Given the description of an element on the screen output the (x, y) to click on. 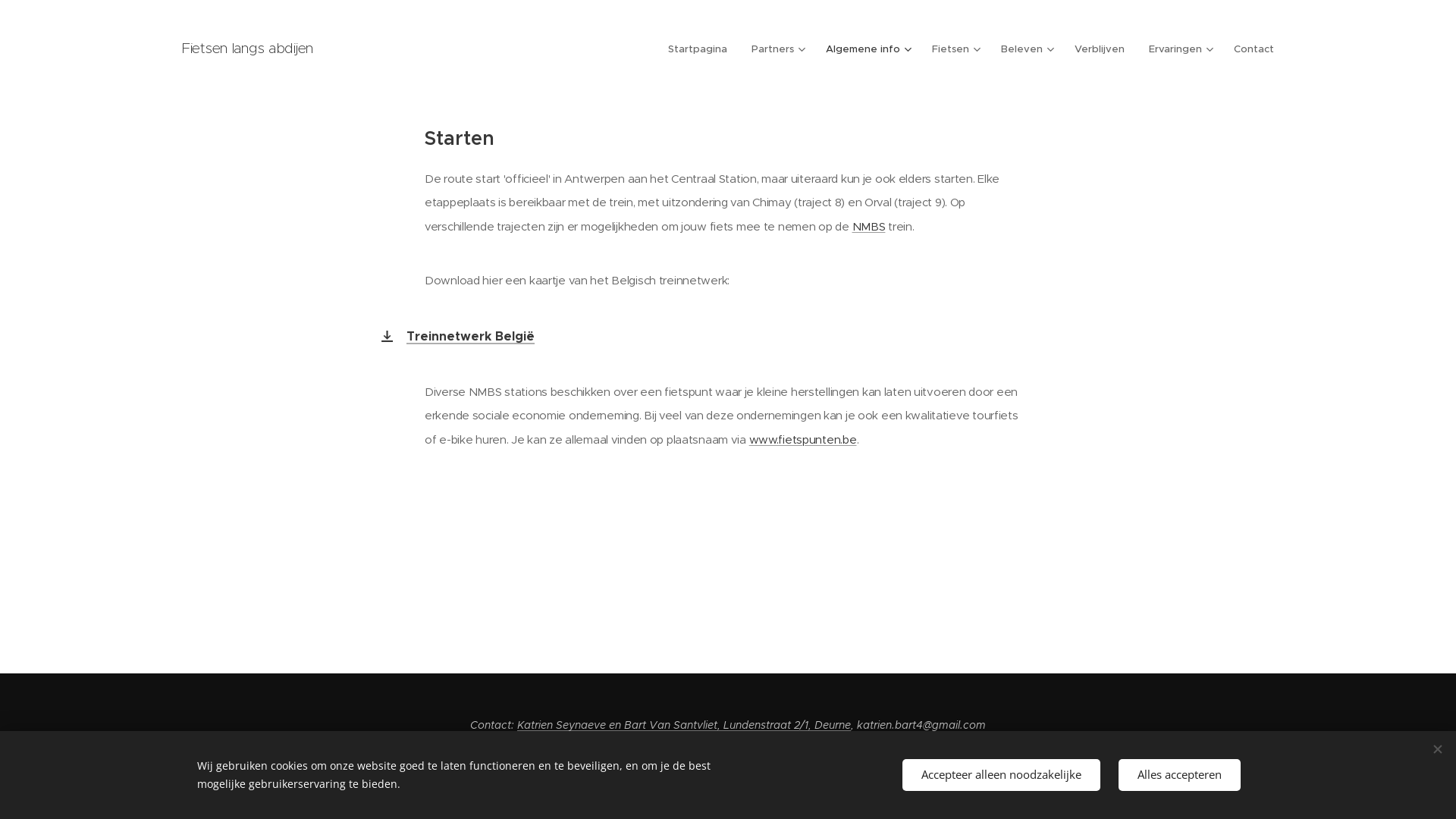
Alles accepteren Element type: text (1179, 774)
Accepteer alleen noodzakelijke Element type: text (1001, 774)
Verblijven Element type: text (1099, 49)
Beleven Element type: text (1025, 49)
Cookies Element type: text (820, 765)
Fietsen Element type: text (953, 49)
Ervaringen Element type: text (1178, 49)
Webnode Element type: text (759, 765)
www.fietspunten.be Element type: text (802, 439)
Contact Element type: text (1247, 49)
Fietsen langs abdijen Element type: text (247, 49)
NMBS Element type: text (868, 226)
Algemene info Element type: text (866, 49)
Partners Element type: text (776, 49)
Startpagina Element type: text (701, 49)
